Given the description of an element on the screen output the (x, y) to click on. 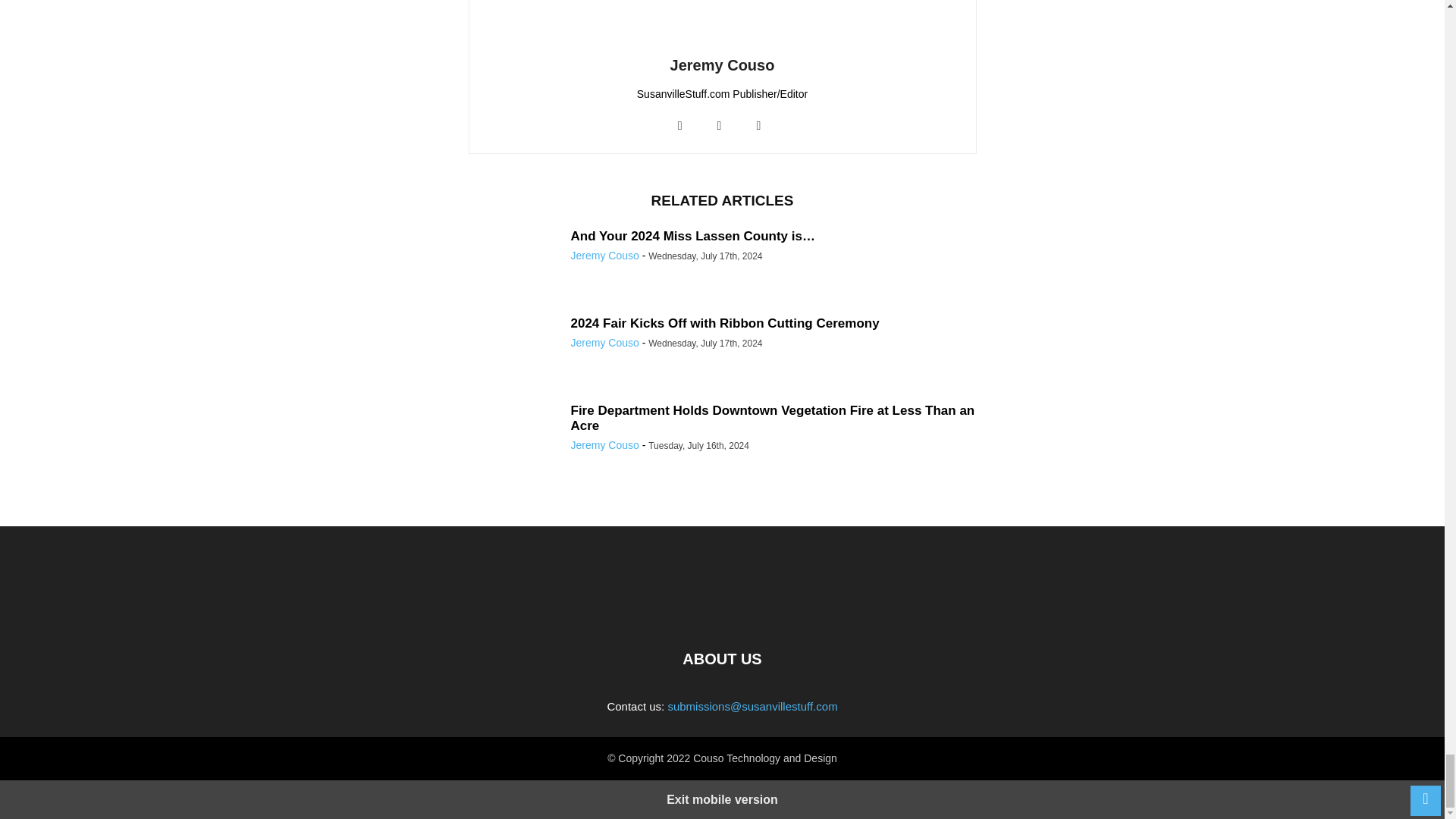
Jeremy Couso (604, 342)
Jeremy Couso (604, 255)
2024 Fair Kicks Off with Ribbon Cutting Ceremony (724, 323)
Jeremy Couso (721, 64)
Jeremy Couso (604, 444)
